Given the description of an element on the screen output the (x, y) to click on. 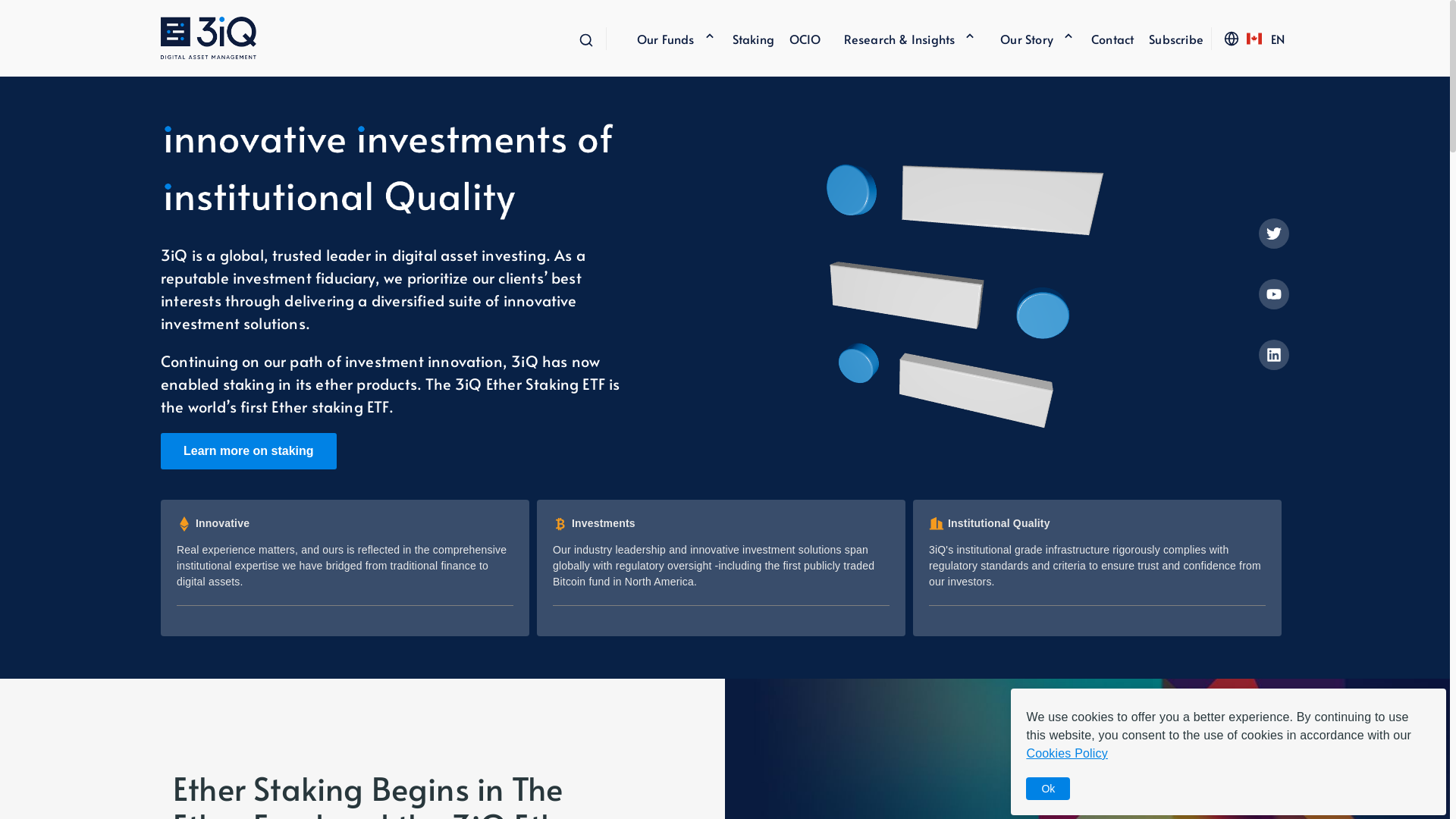
Staking Element type: text (745, 38)
Research & Insights Element type: text (899, 37)
OCIO Element type: text (797, 38)
Our Story Element type: text (1026, 37)
Canada Element type: hover (1253, 38)
Contact Element type: text (1104, 38)
Subscribe Element type: text (1168, 38)
Cookies Policy Element type: text (1066, 752)
Learn more on staking Element type: text (248, 451)
Ok Element type: text (1048, 788)
Our Funds Element type: text (665, 37)
EN Element type: text (1277, 38)
